Given the description of an element on the screen output the (x, y) to click on. 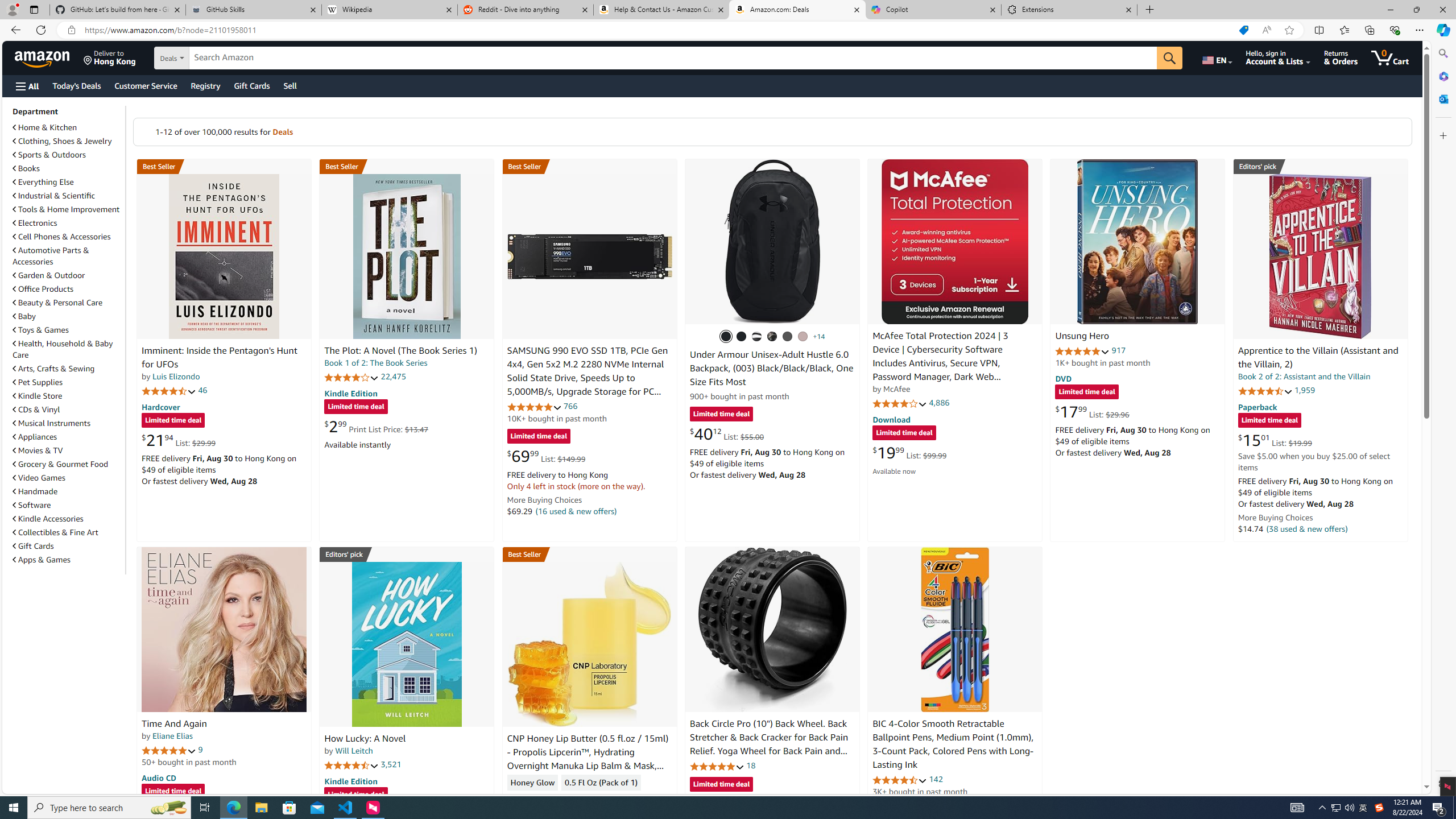
Movies & TV (67, 450)
Paperback (1256, 406)
Arts, Crafts & Sewing (67, 368)
Clothing, Shoes & Jewelry (62, 140)
(001) Black / Black / Metallic Gold (741, 336)
18 (750, 764)
Choose a language for shopping. (1216, 57)
Electronics (67, 222)
Grocery & Gourmet Food (67, 464)
$19.99 List: $99.99 (909, 452)
